Given the description of an element on the screen output the (x, y) to click on. 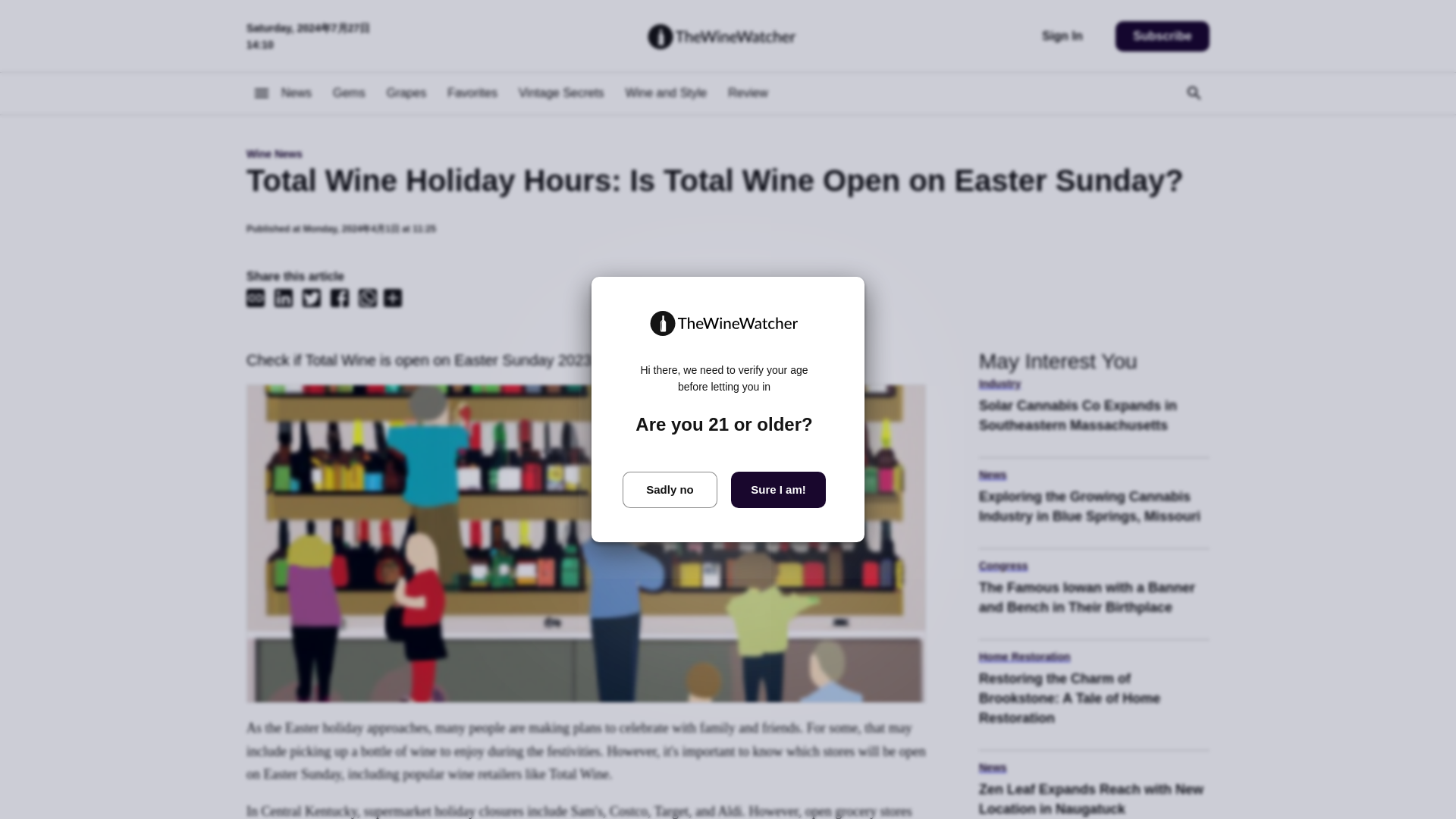
Congress (1093, 565)
Review (747, 92)
Wine and Style (666, 92)
Grapes (406, 92)
Industry (1093, 383)
Wine News (727, 153)
News (1093, 474)
Gems (349, 92)
Sign In (1093, 421)
News (1061, 36)
Home Restoration (296, 92)
Vintage Secrets (1093, 656)
